Given the description of an element on the screen output the (x, y) to click on. 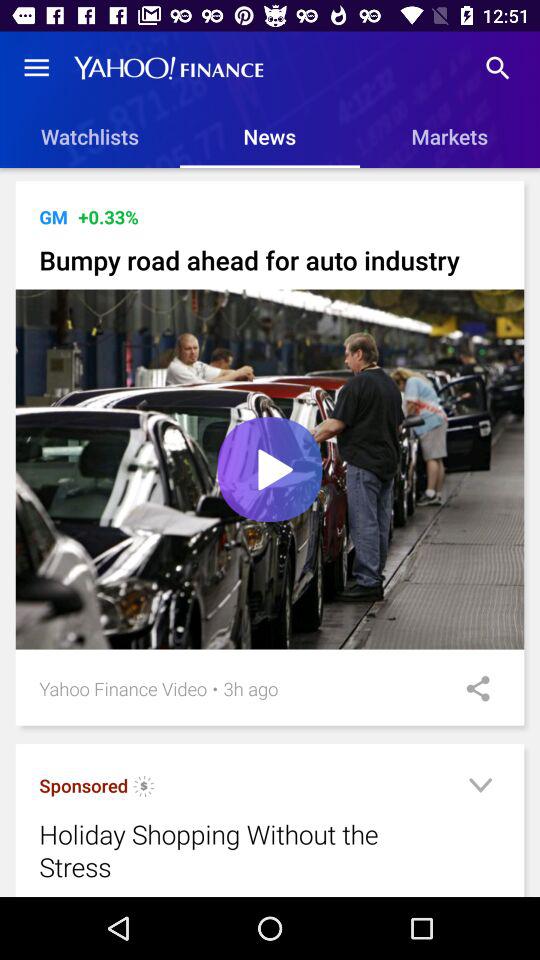
turn on icon to the right of holiday shopping without (480, 788)
